Given the description of an element on the screen output the (x, y) to click on. 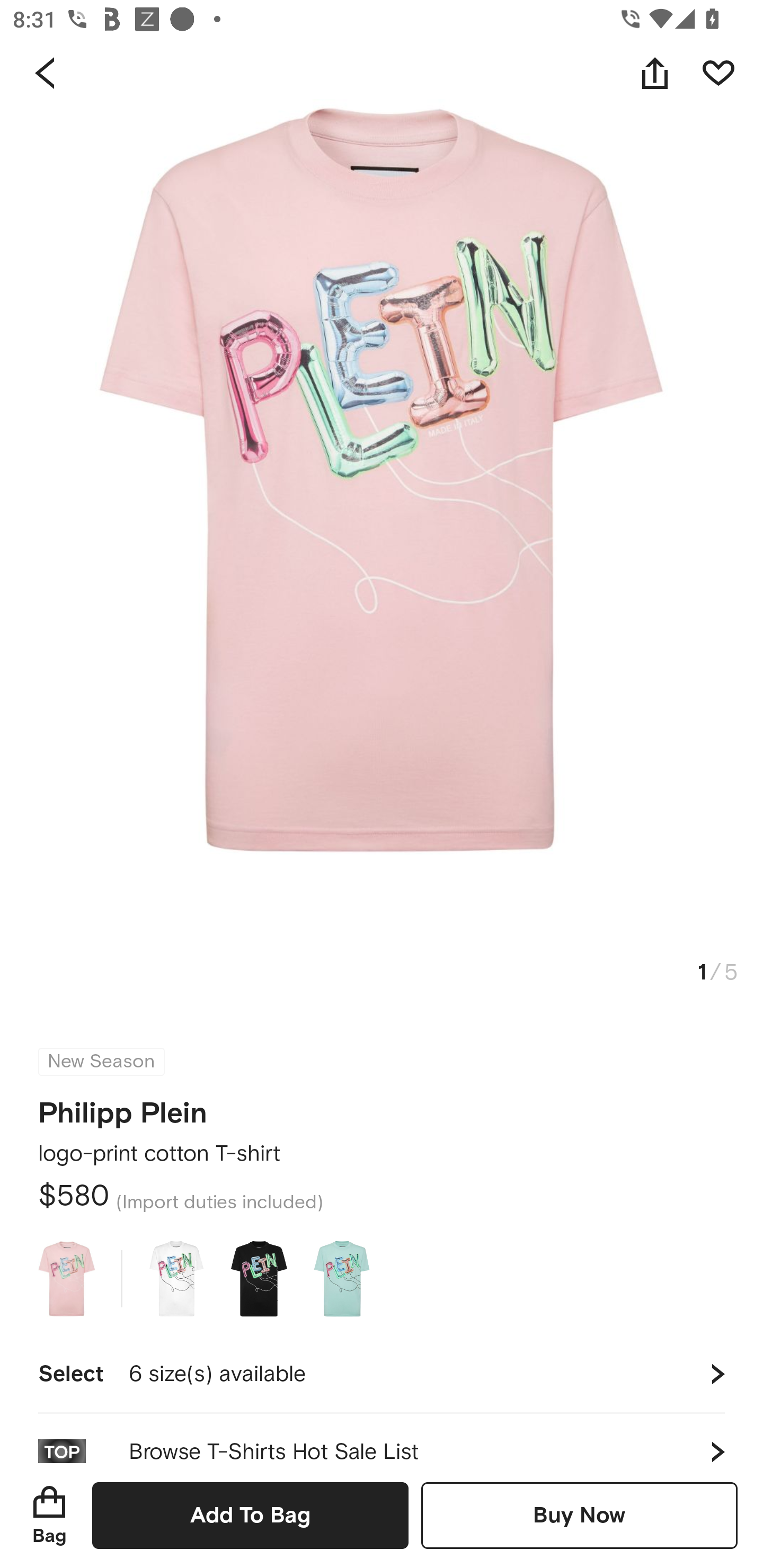
Philipp Plein (122, 1107)
Select 6 size(s) available (381, 1373)
Browse T-Shirts Hot Sale List (381, 1438)
Bag (49, 1515)
Add To Bag (250, 1515)
Buy Now (579, 1515)
